Given the description of an element on the screen output the (x, y) to click on. 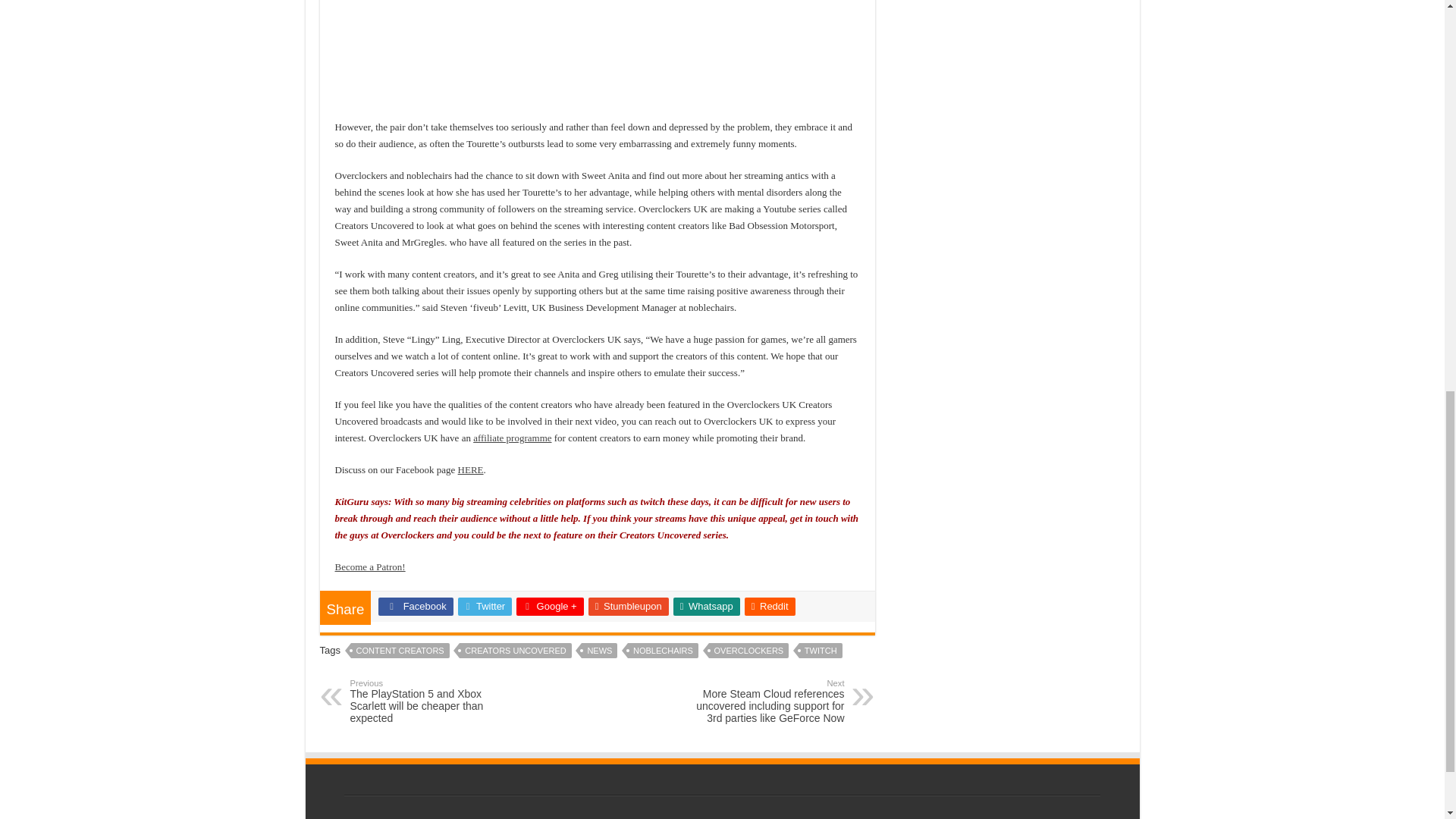
Whatsapp (705, 606)
Become a Patron! (370, 566)
CONTENT CREATORS (399, 650)
HERE (470, 469)
Stumbleupon (628, 606)
affiliate programme (512, 437)
Facebook (415, 606)
Twitter (485, 606)
Reddit (769, 606)
